Given the description of an element on the screen output the (x, y) to click on. 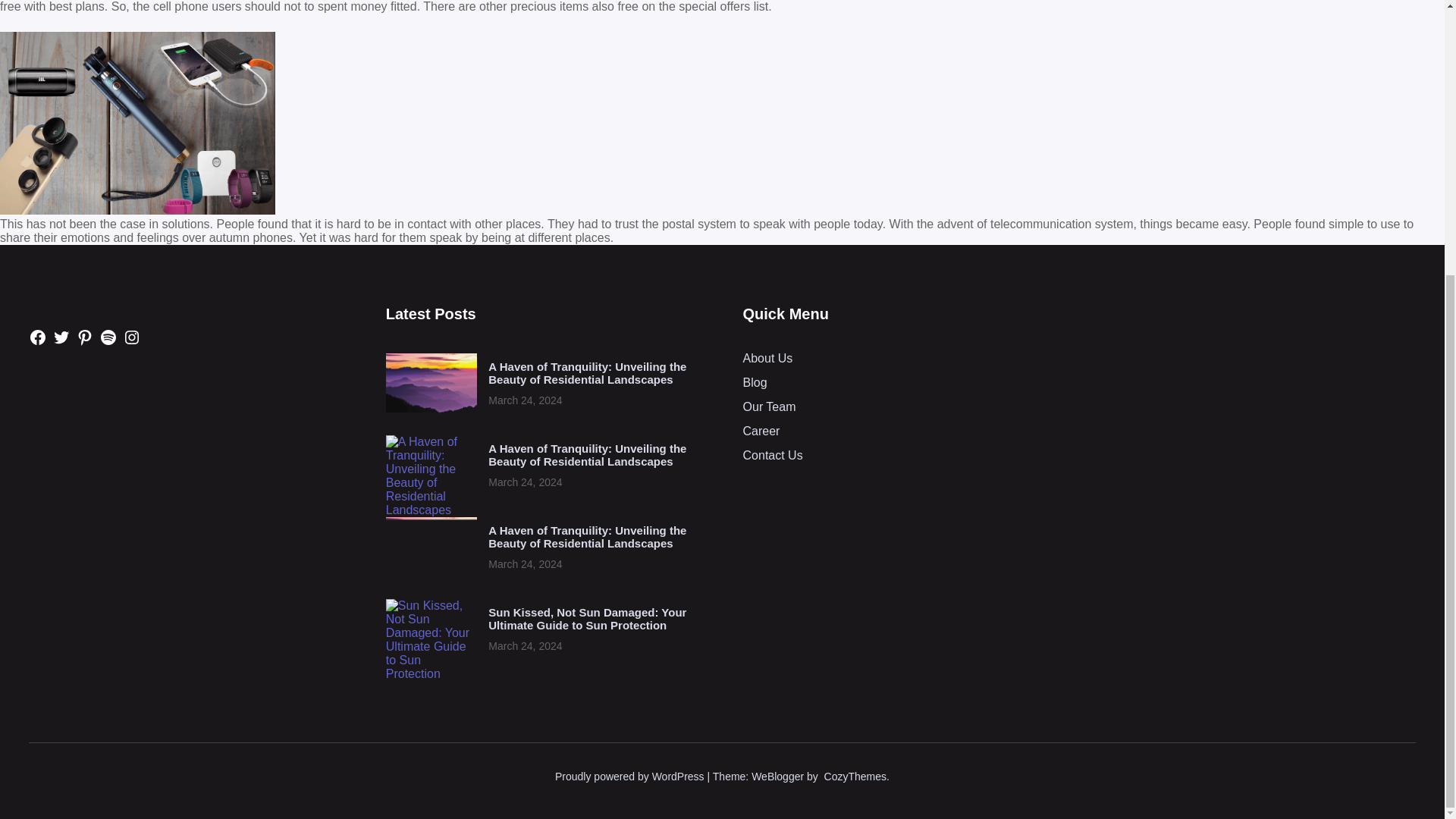
Pinterest (84, 337)
About Us (767, 358)
Contact Us (772, 454)
Our Team (769, 406)
Career (761, 431)
Facebook (37, 337)
Spotify (108, 337)
Instagram (131, 337)
Twitter (60, 337)
Blog (754, 382)
